Given the description of an element on the screen output the (x, y) to click on. 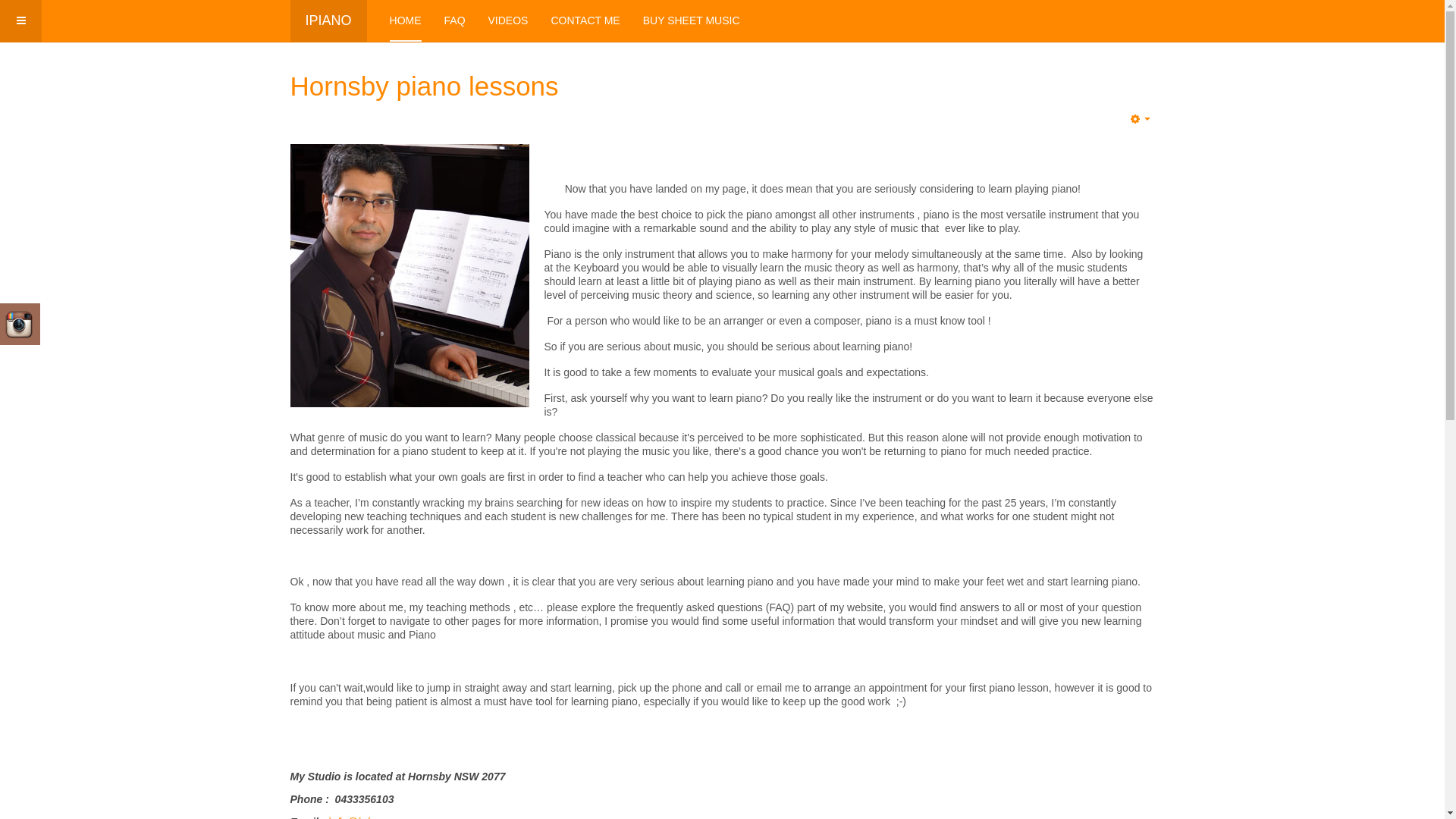
VIDEOS Element type: text (508, 20)
Empty Element type: text (1140, 118)
FAQ Element type: text (454, 20)
BUY SHEET MUSIC Element type: text (691, 20)
IPIANO Element type: text (327, 20)
CONTACT ME Element type: text (584, 20)
HOME Element type: text (405, 20)
Hornsby piano lessons Element type: text (423, 85)
